Given the description of an element on the screen output the (x, y) to click on. 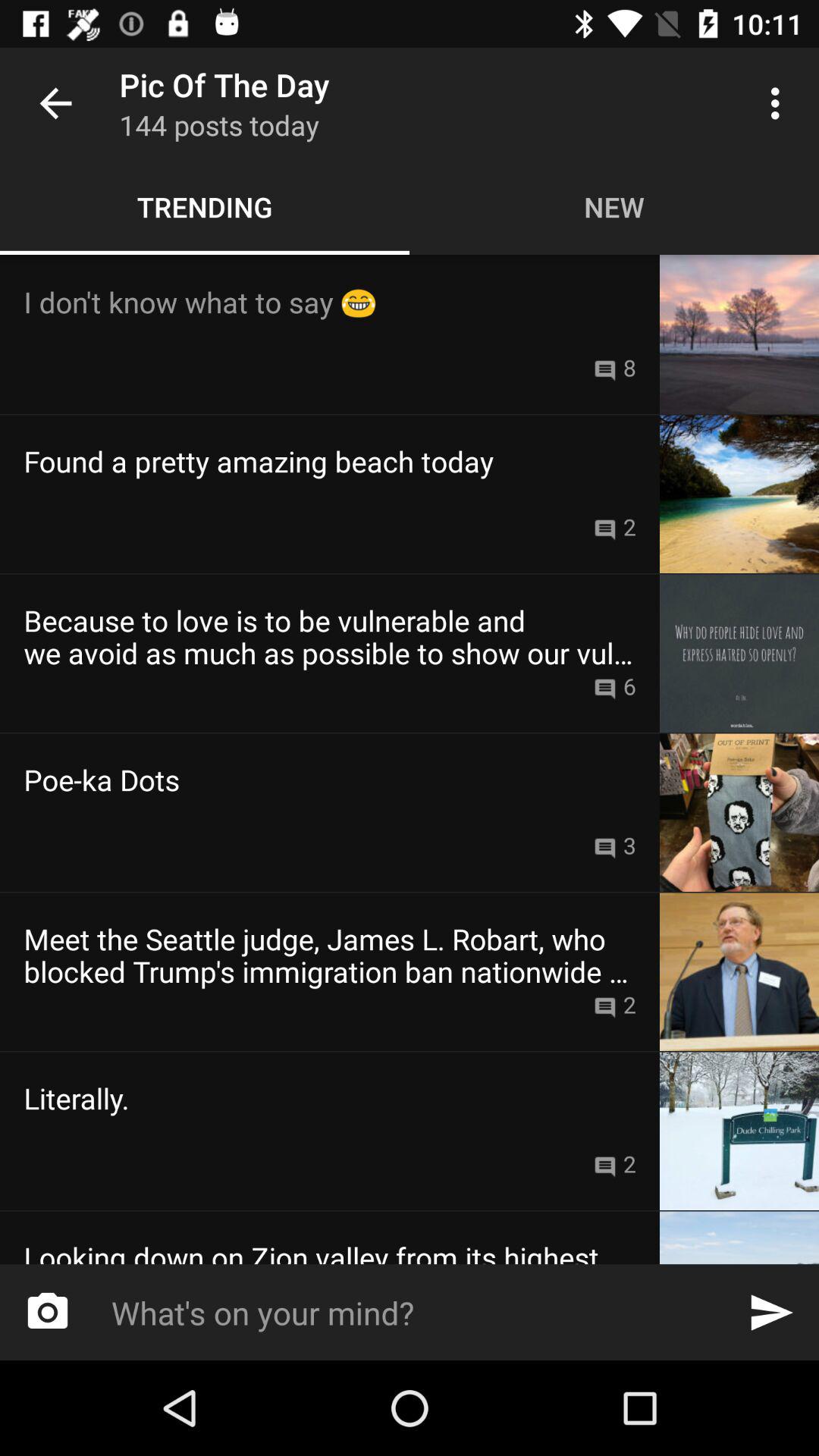
click icon below the looking down on item (403, 1312)
